Given the description of an element on the screen output the (x, y) to click on. 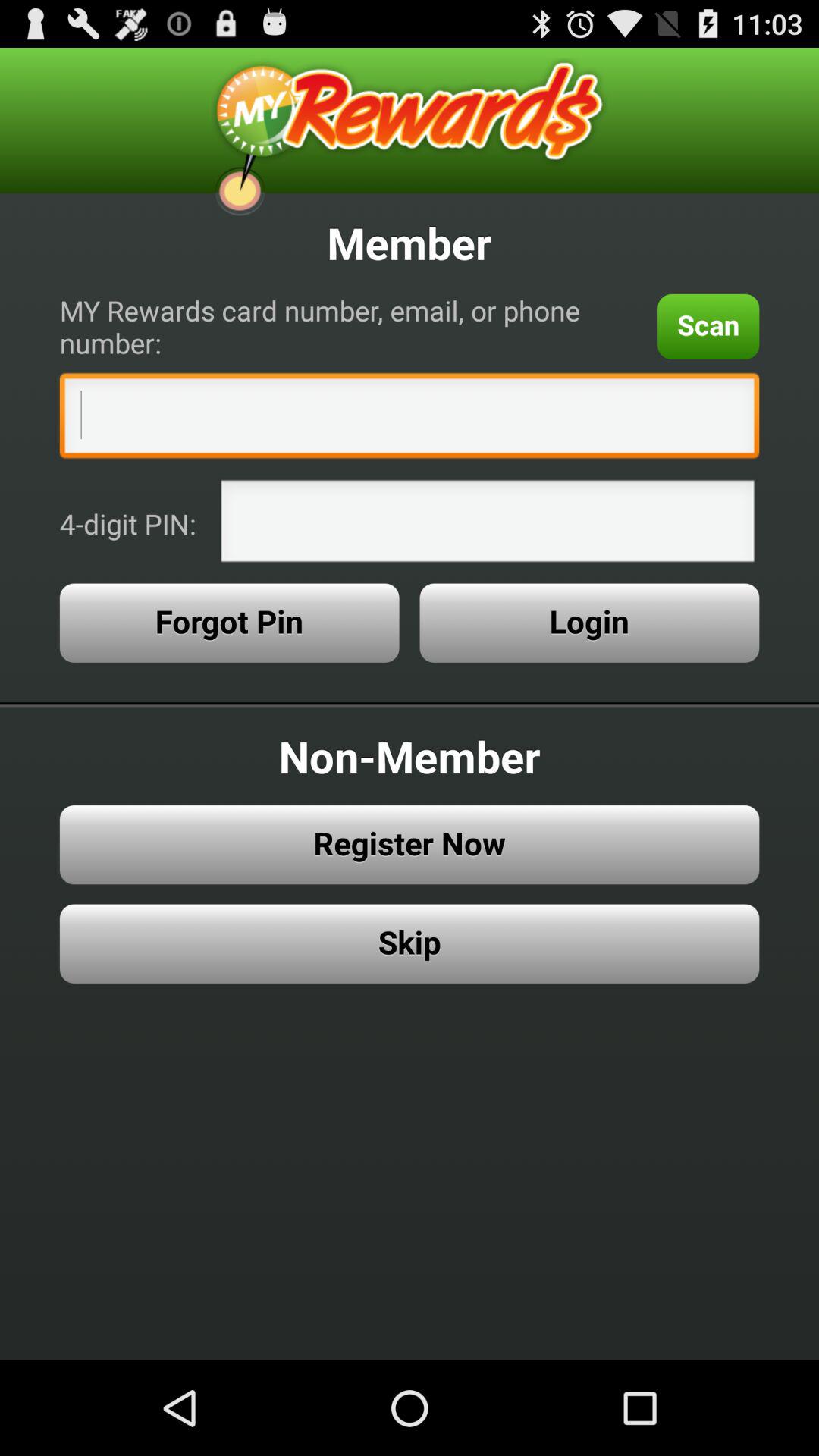
jump to the forgot pin button (229, 622)
